Given the description of an element on the screen output the (x, y) to click on. 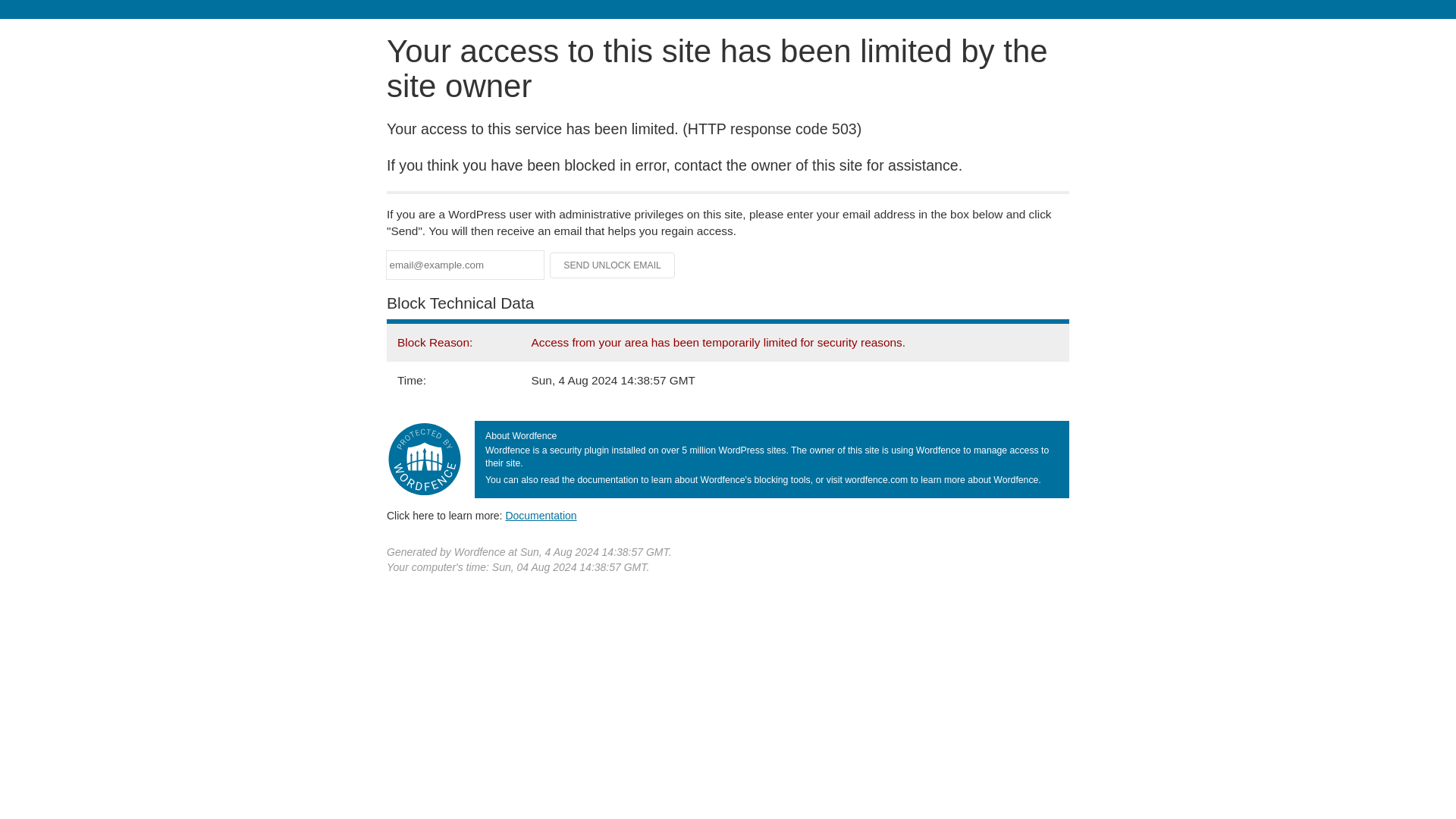
Send Unlock Email (612, 265)
Send Unlock Email (612, 265)
Documentation (540, 515)
